Given the description of an element on the screen output the (x, y) to click on. 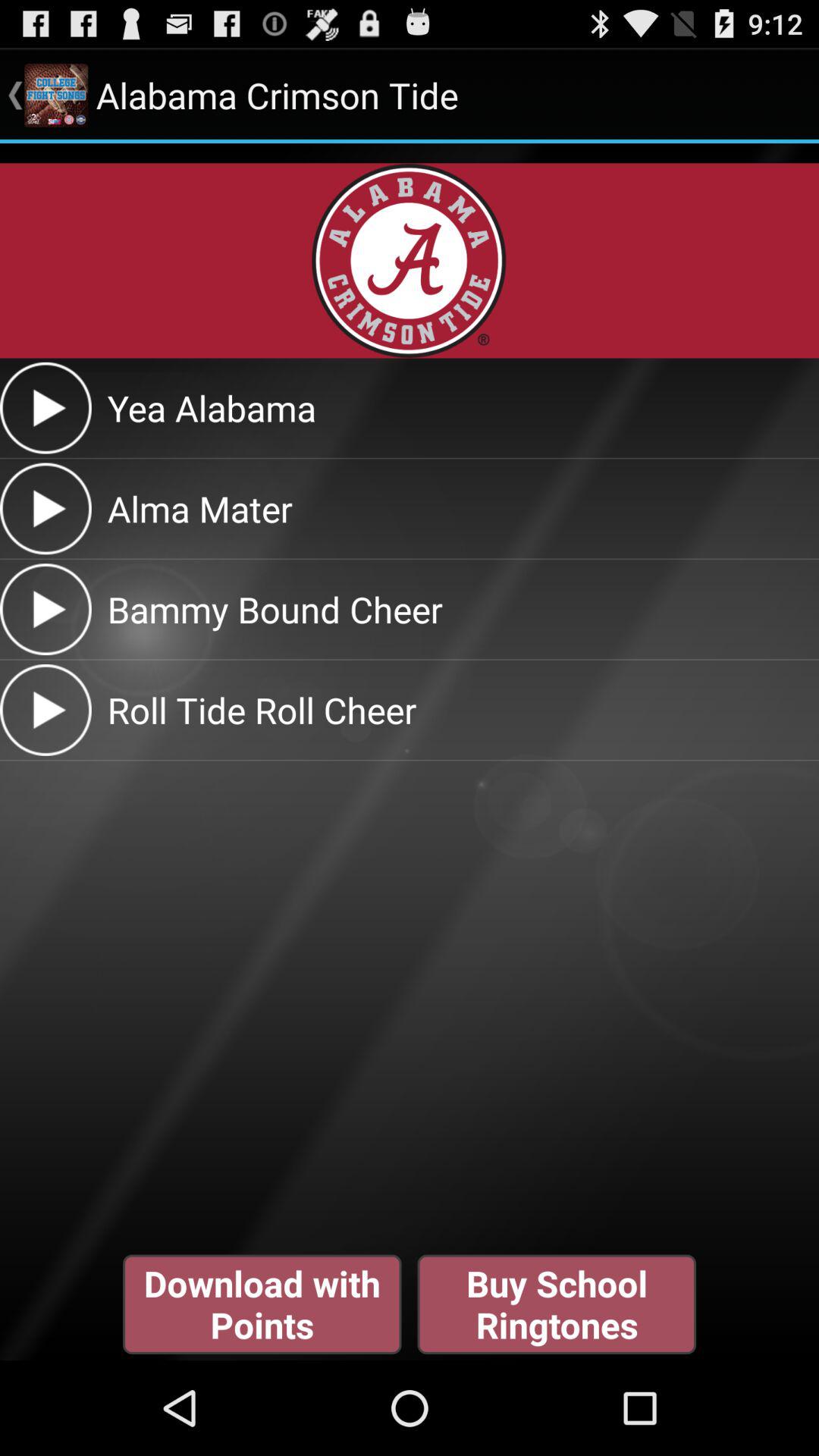
play (45, 709)
